Given the description of an element on the screen output the (x, y) to click on. 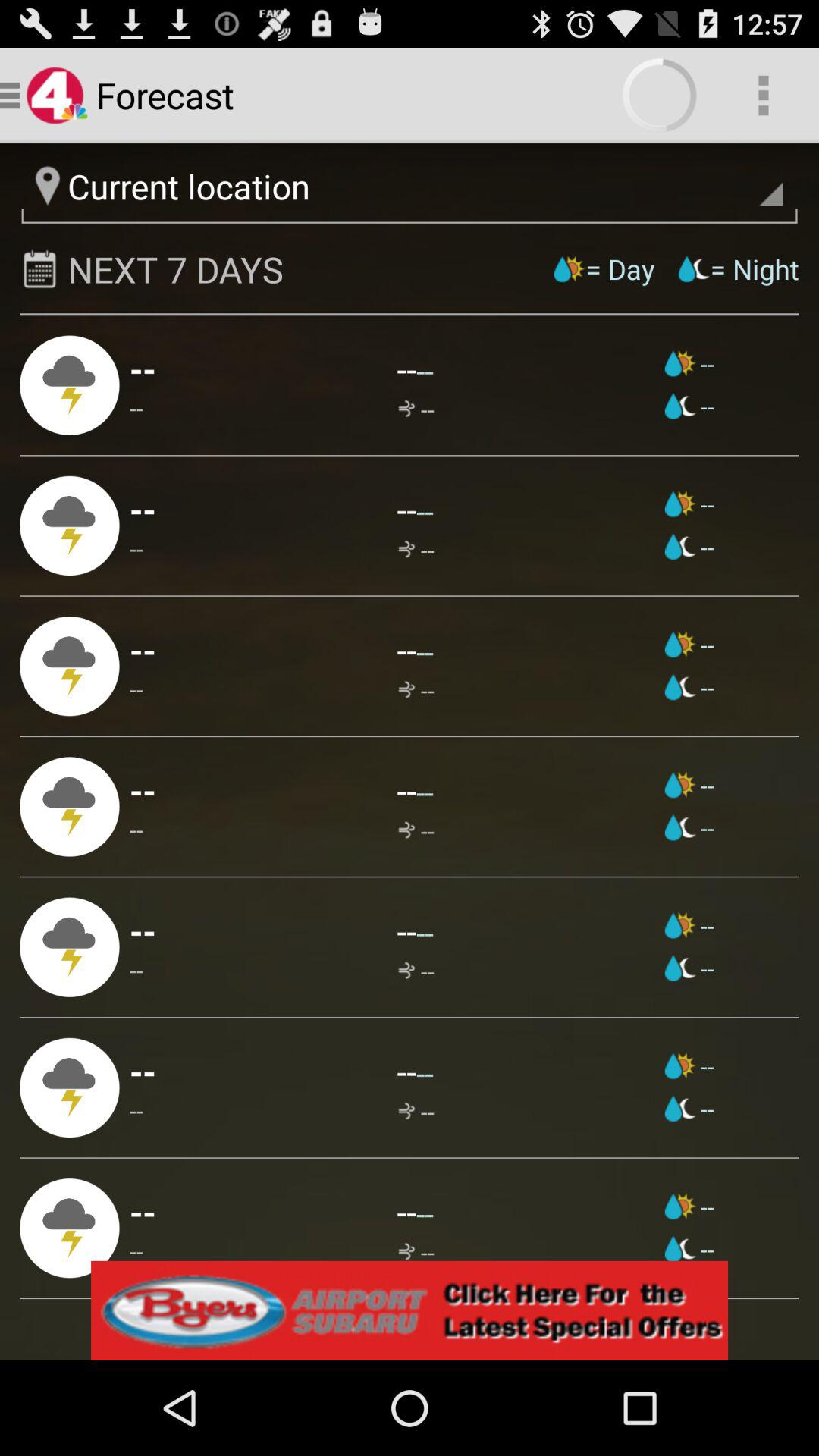
click app below the -- icon (136, 1250)
